Given the description of an element on the screen output the (x, y) to click on. 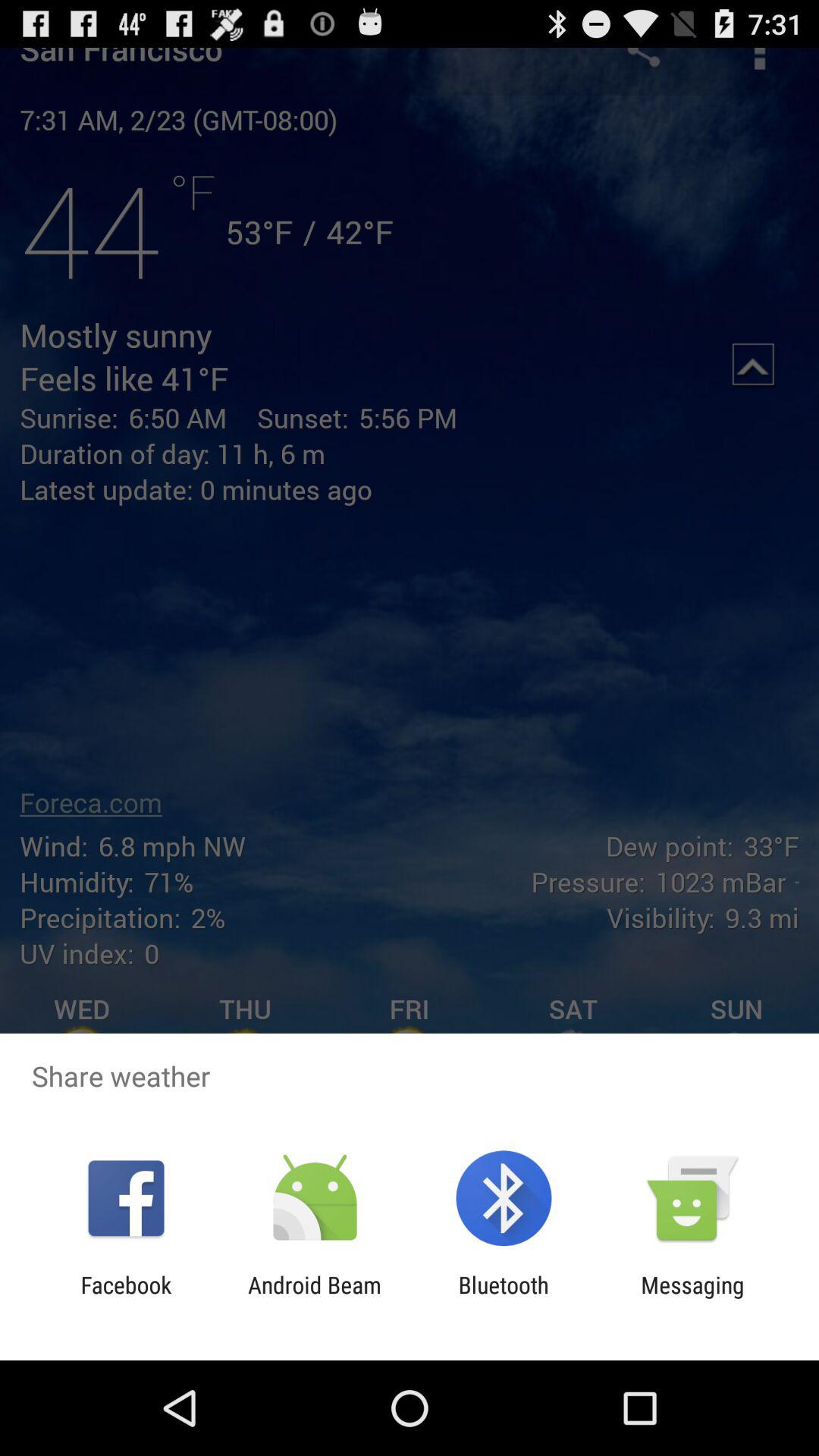
launch the app to the left of the messaging app (503, 1298)
